Given the description of an element on the screen output the (x, y) to click on. 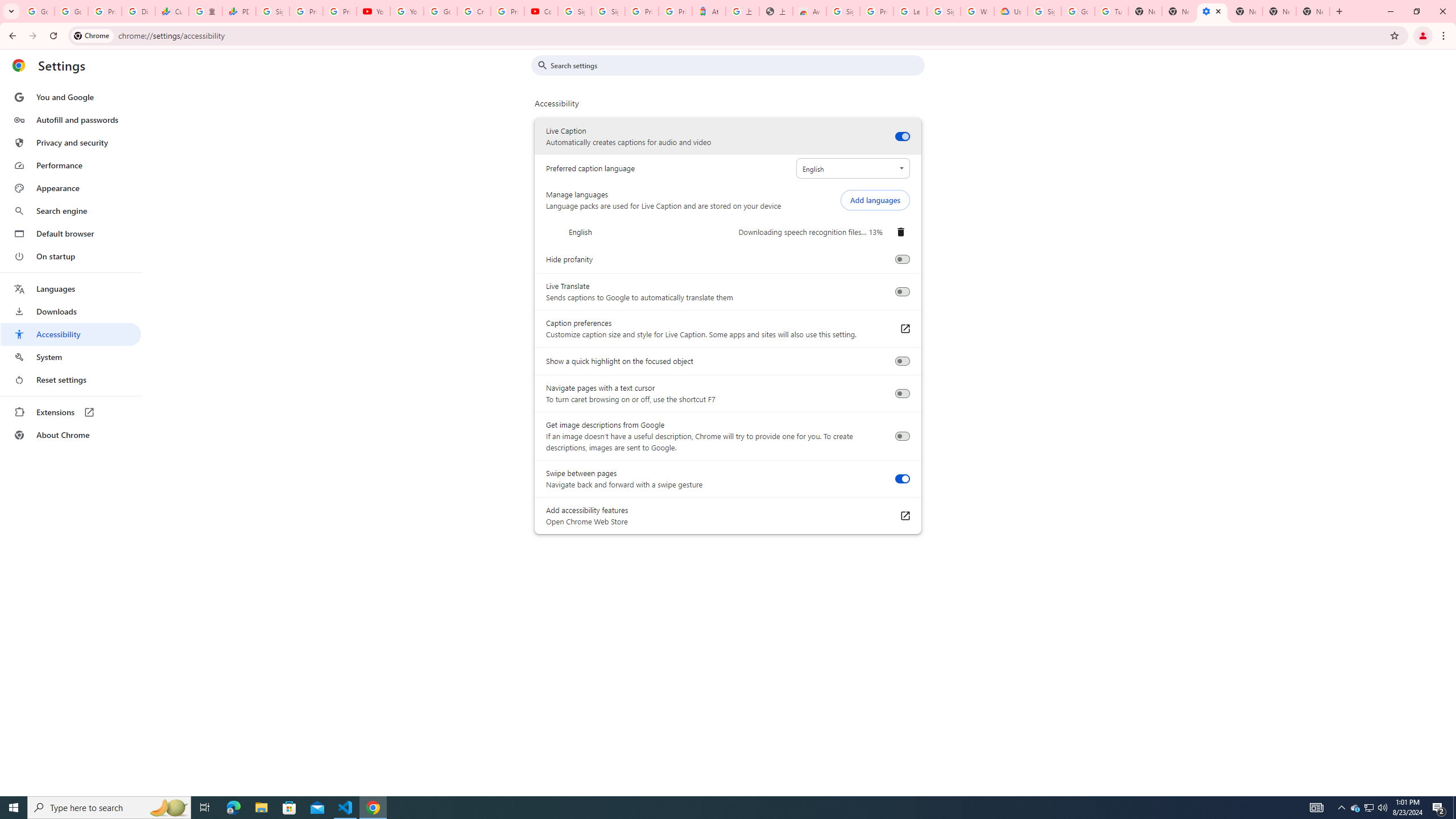
Google Account Help (441, 11)
Content Creator Programs & Opportunities - YouTube Creators (541, 11)
Privacy and security (70, 142)
Languages (70, 288)
You and Google (70, 96)
About Chrome (70, 434)
YouTube (372, 11)
